Given the description of an element on the screen output the (x, y) to click on. 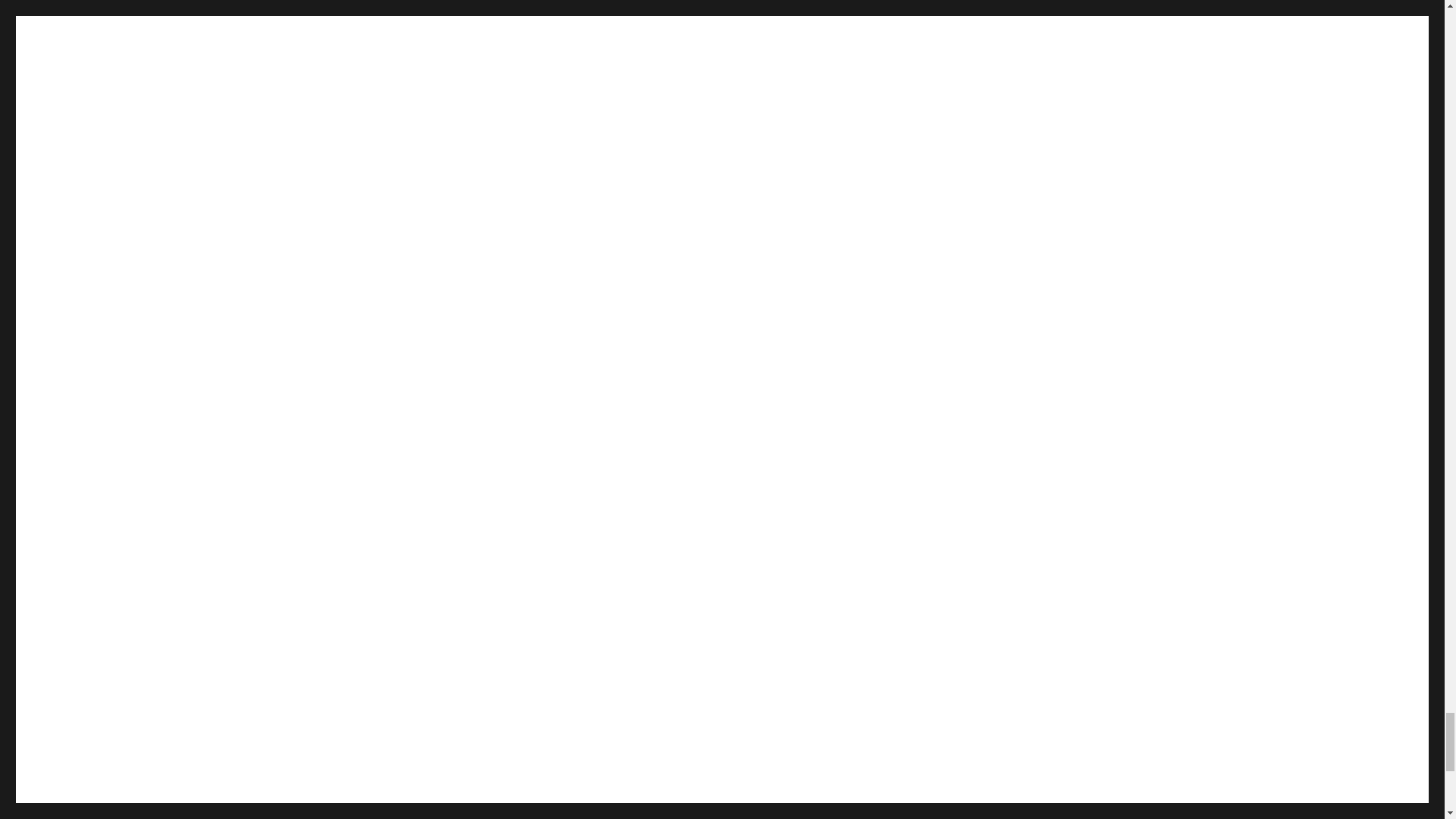
NNSS Studies Pronghorn Antelope, Mule Deer (676, 794)
